Given the description of an element on the screen output the (x, y) to click on. 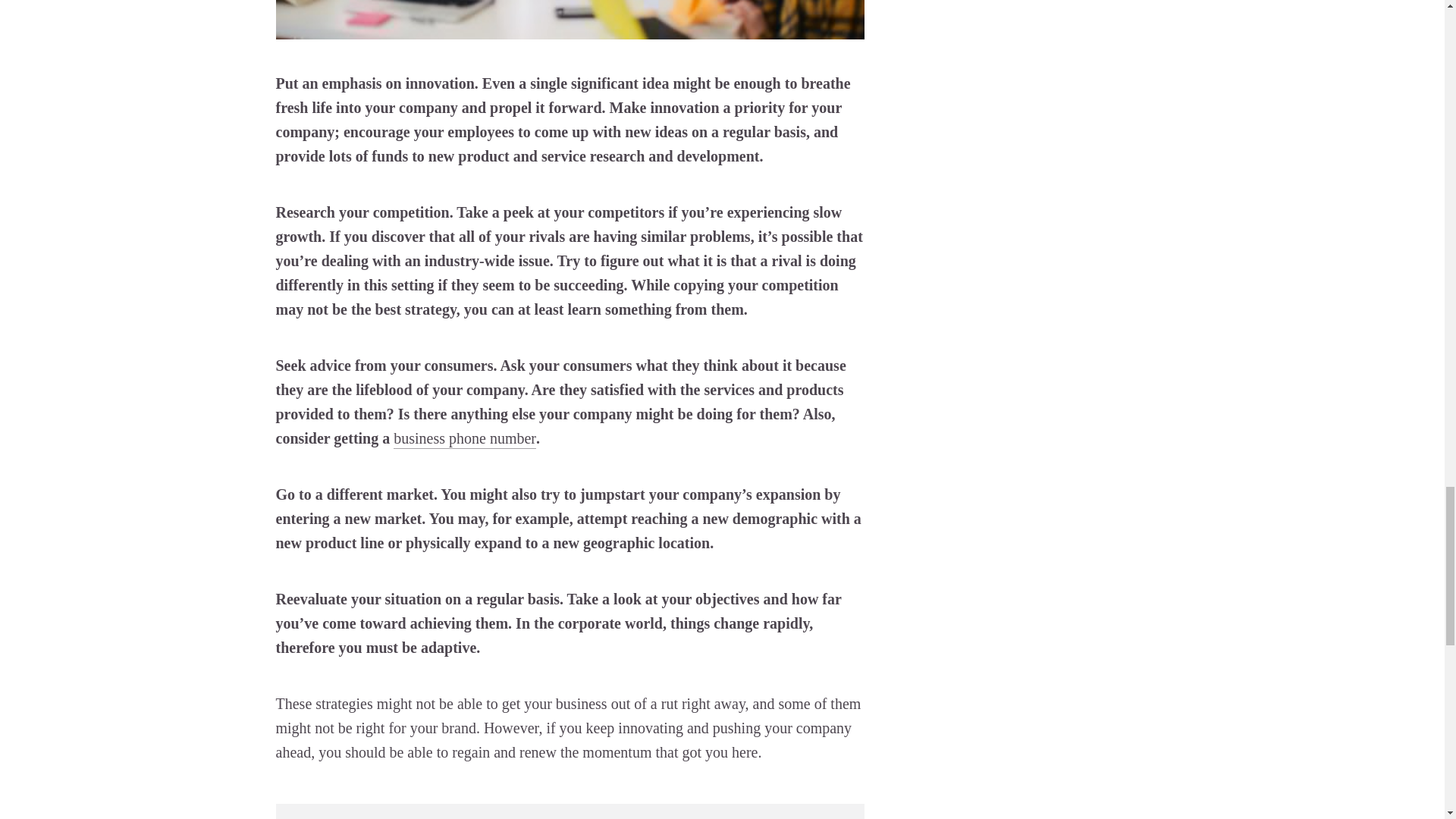
Things To Try If Your Business Isn'T Growing 4 (570, 19)
business phone number (464, 438)
